Given the description of an element on the screen output the (x, y) to click on. 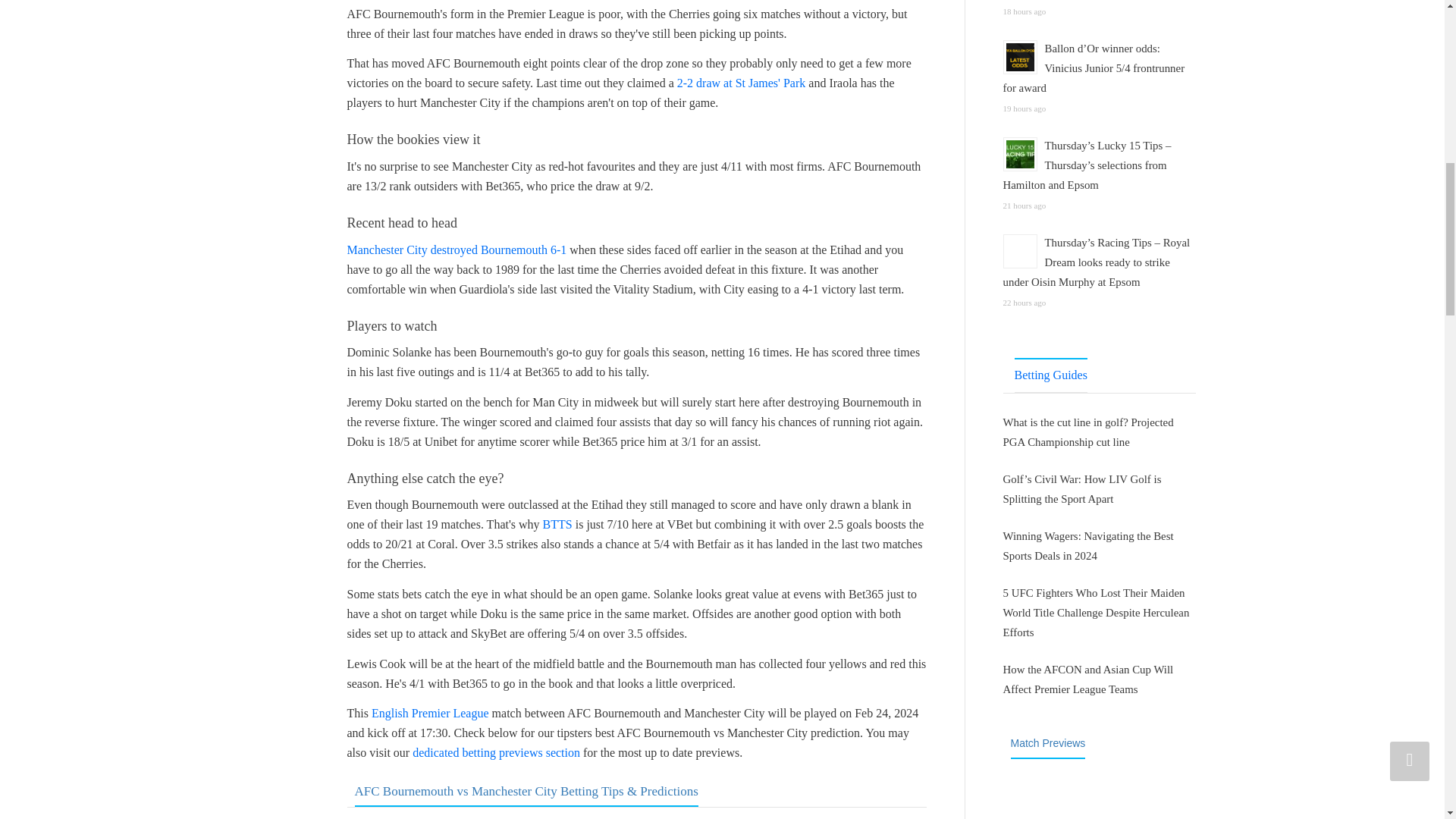
English Premier League (430, 712)
BTTS (557, 523)
dedicated betting previews section (495, 752)
2-2 draw at St James' Park (740, 82)
Manchester City destroyed Bournemouth 6-1 (457, 249)
